Given the description of an element on the screen output the (x, y) to click on. 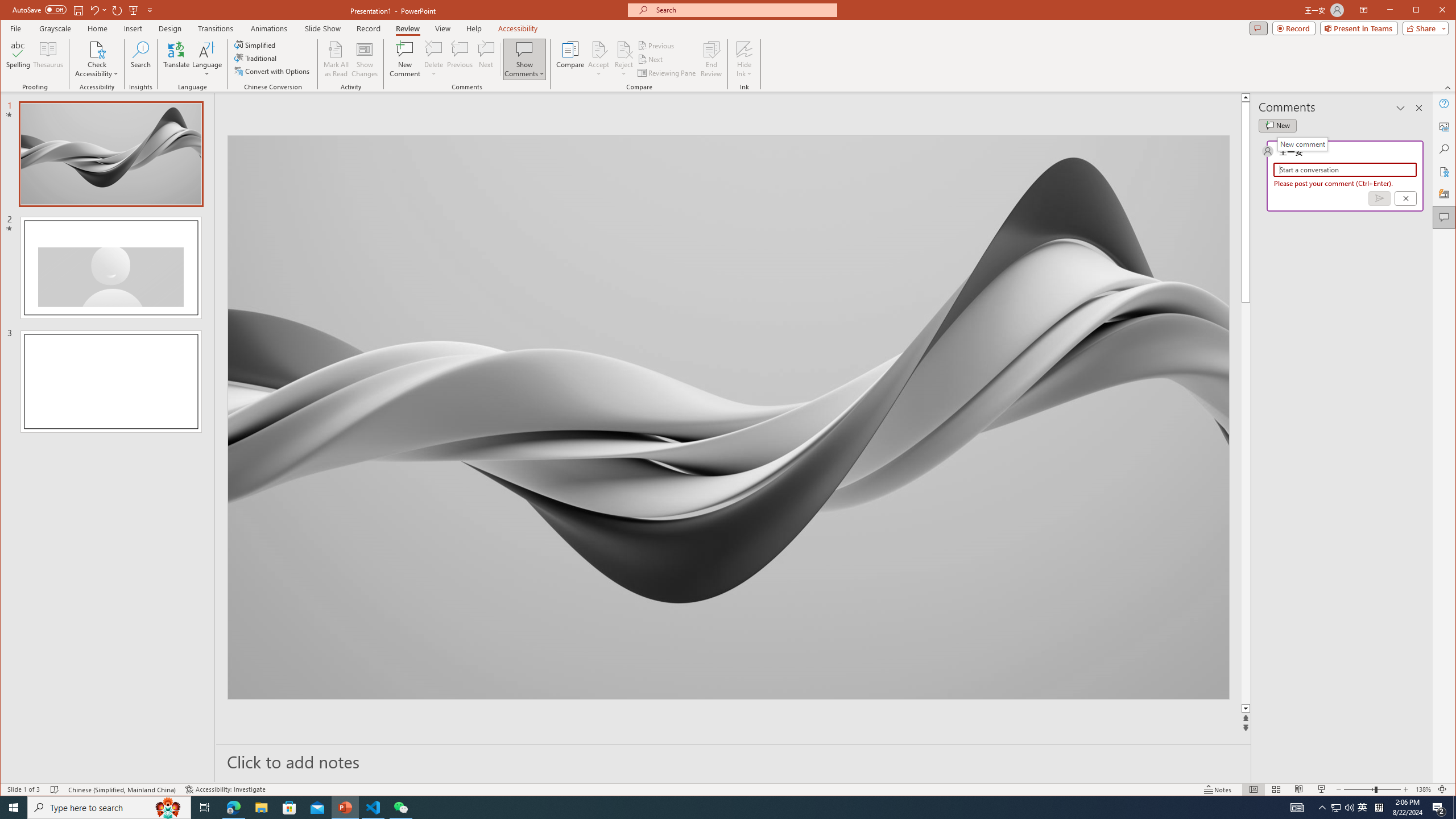
Search (140, 59)
Spelling... (18, 59)
Accessibility (1444, 171)
Line down (1427, 709)
PowerPoint - 1 running window (345, 807)
Customize Quick Access Toolbar (150, 9)
Maximize (1432, 11)
Line up (1427, 96)
Check Accessibility (96, 48)
Redo (117, 9)
Page down (1427, 503)
Microsoft search (742, 10)
Zoom 138% (1422, 789)
